Given the description of an element on the screen output the (x, y) to click on. 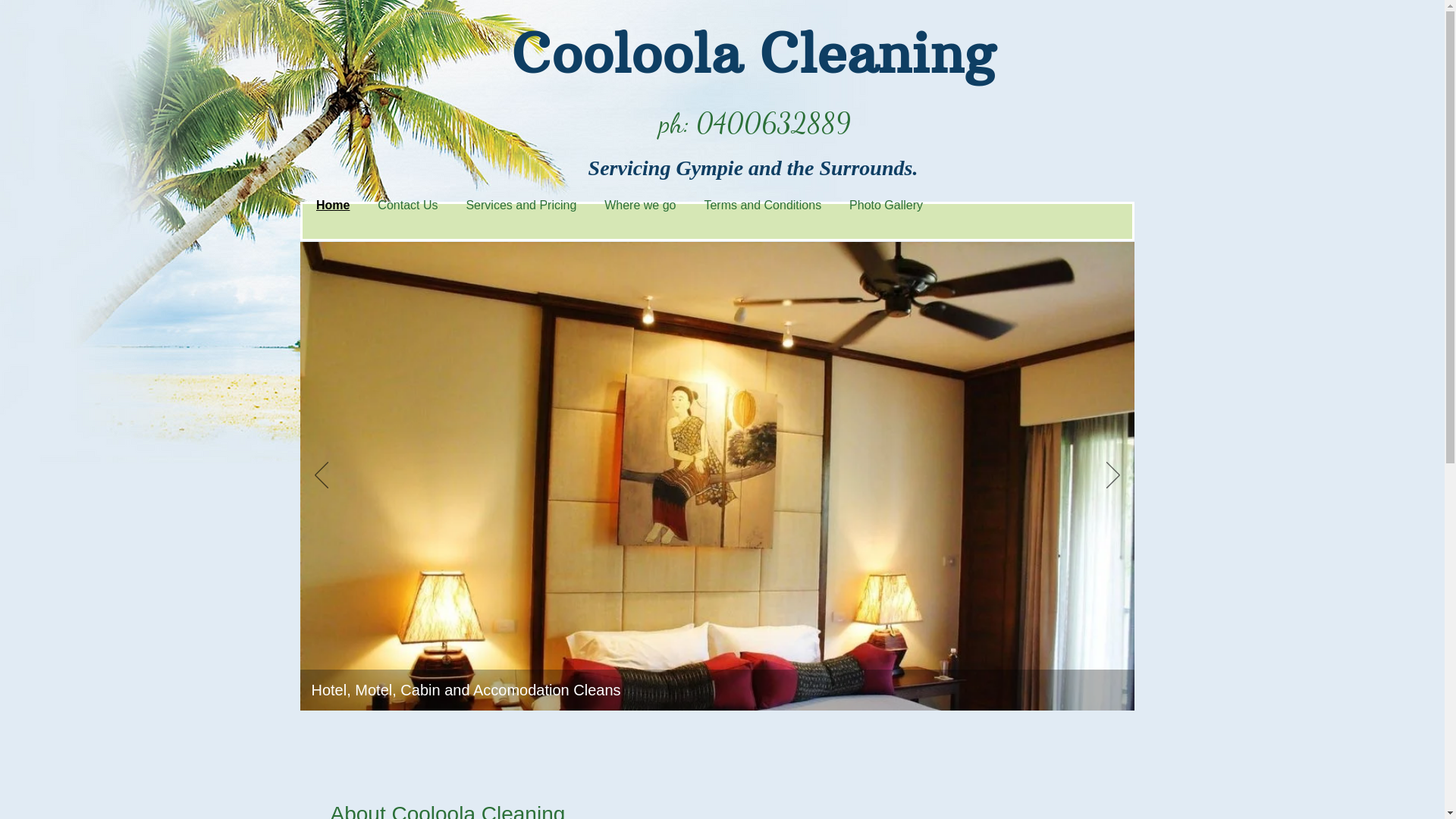
Terms and Conditions Element type: text (762, 205)
Home Element type: text (332, 205)
Services and Pricing Element type: text (520, 205)
Contact Us Element type: text (407, 205)
Photo Gallery Element type: text (886, 205)
Where we go Element type: text (640, 205)
